Given the description of an element on the screen output the (x, y) to click on. 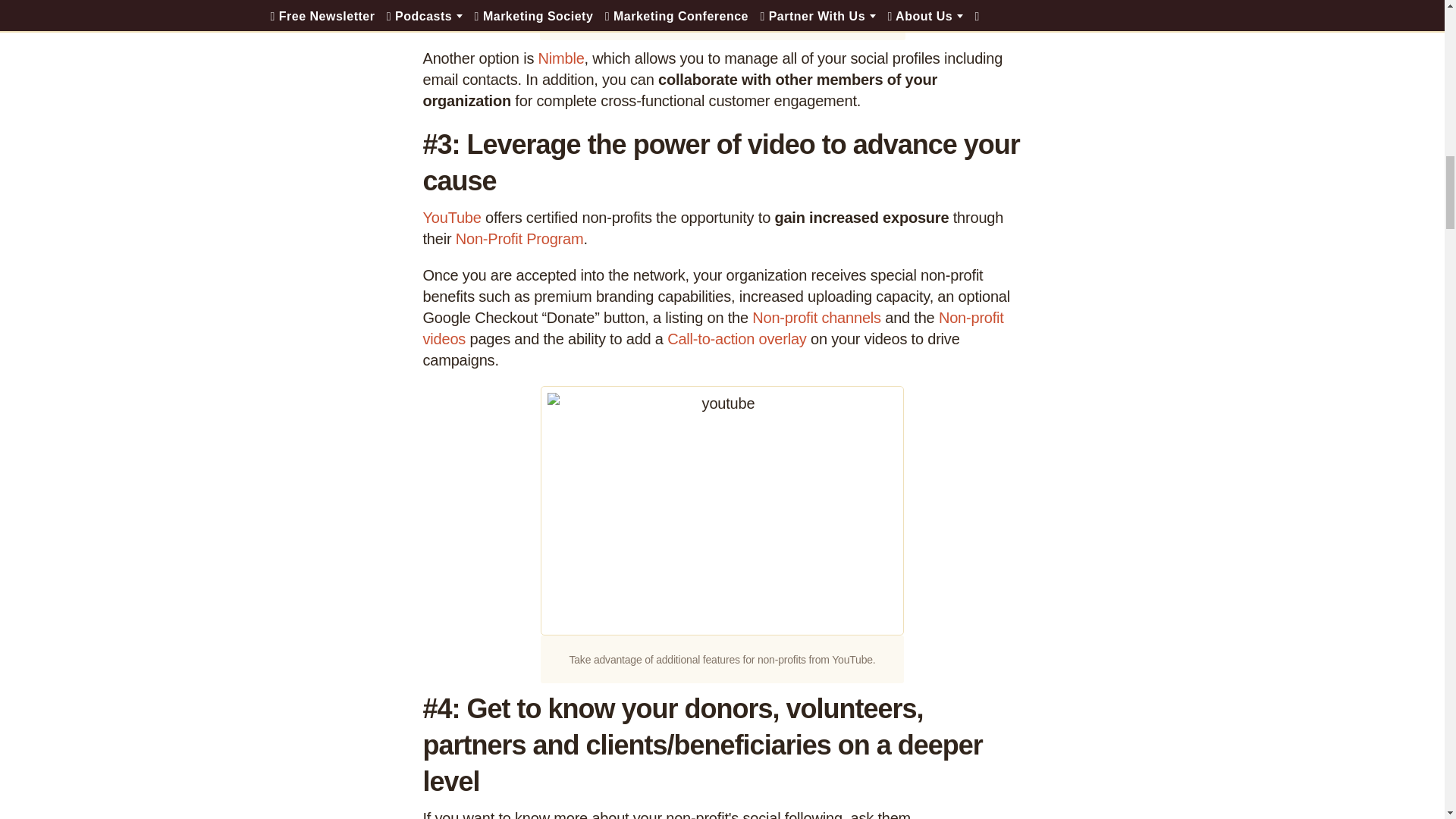
Non-profit channels (816, 317)
Nimble (561, 57)
Non-Profit Program (519, 238)
YouTube (452, 217)
Non-profit videos (713, 328)
